Given the description of an element on the screen output the (x, y) to click on. 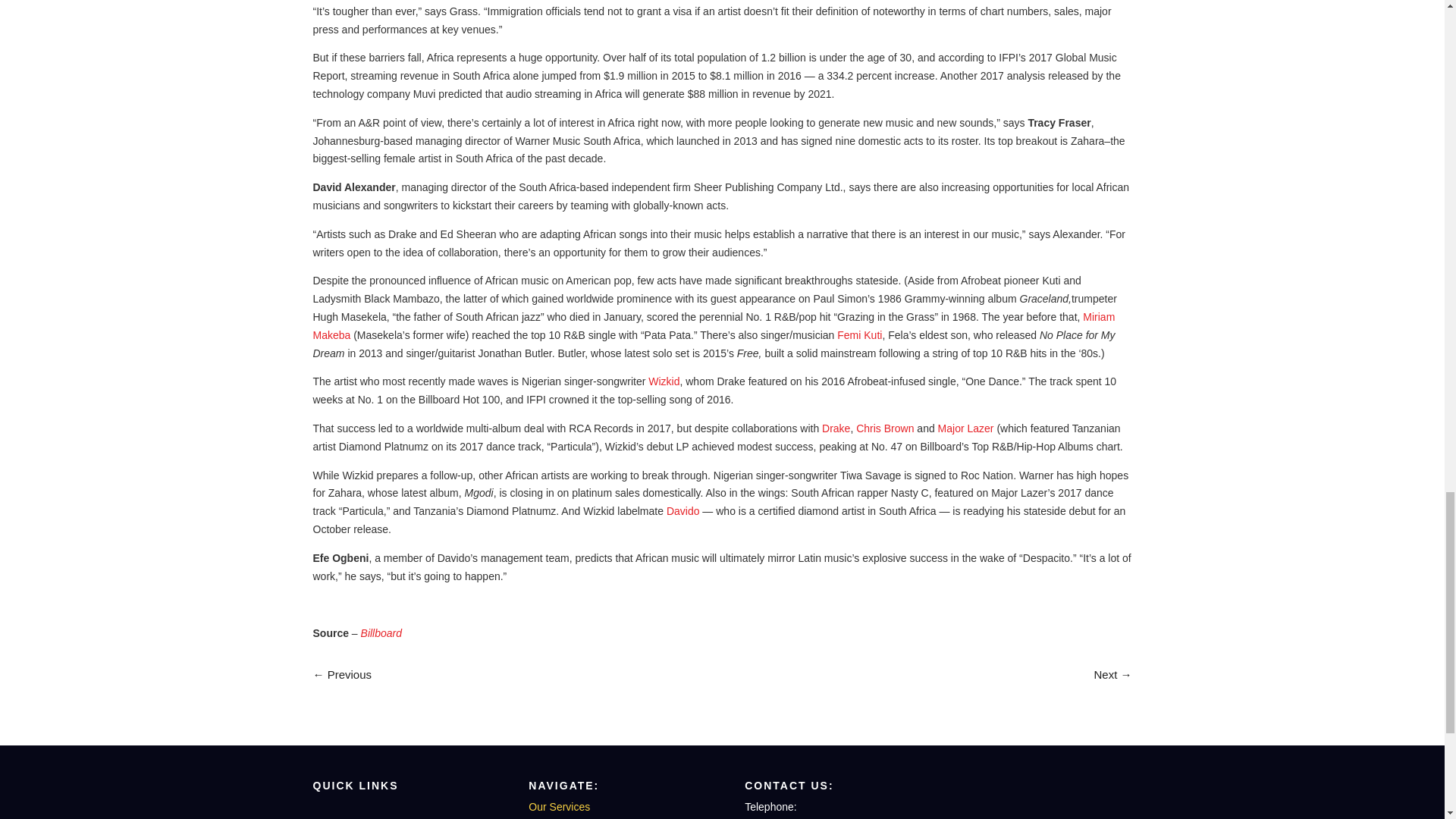
Major Lazer (965, 428)
Our Services (558, 806)
Drake (836, 428)
Femi Kuti (859, 335)
Davido (683, 510)
Miriam Makeba (714, 326)
Sheer Publishing Africa (1045, 799)
Billboard (381, 633)
Chris Brown (885, 428)
Wizkid (663, 381)
